Given the description of an element on the screen output the (x, y) to click on. 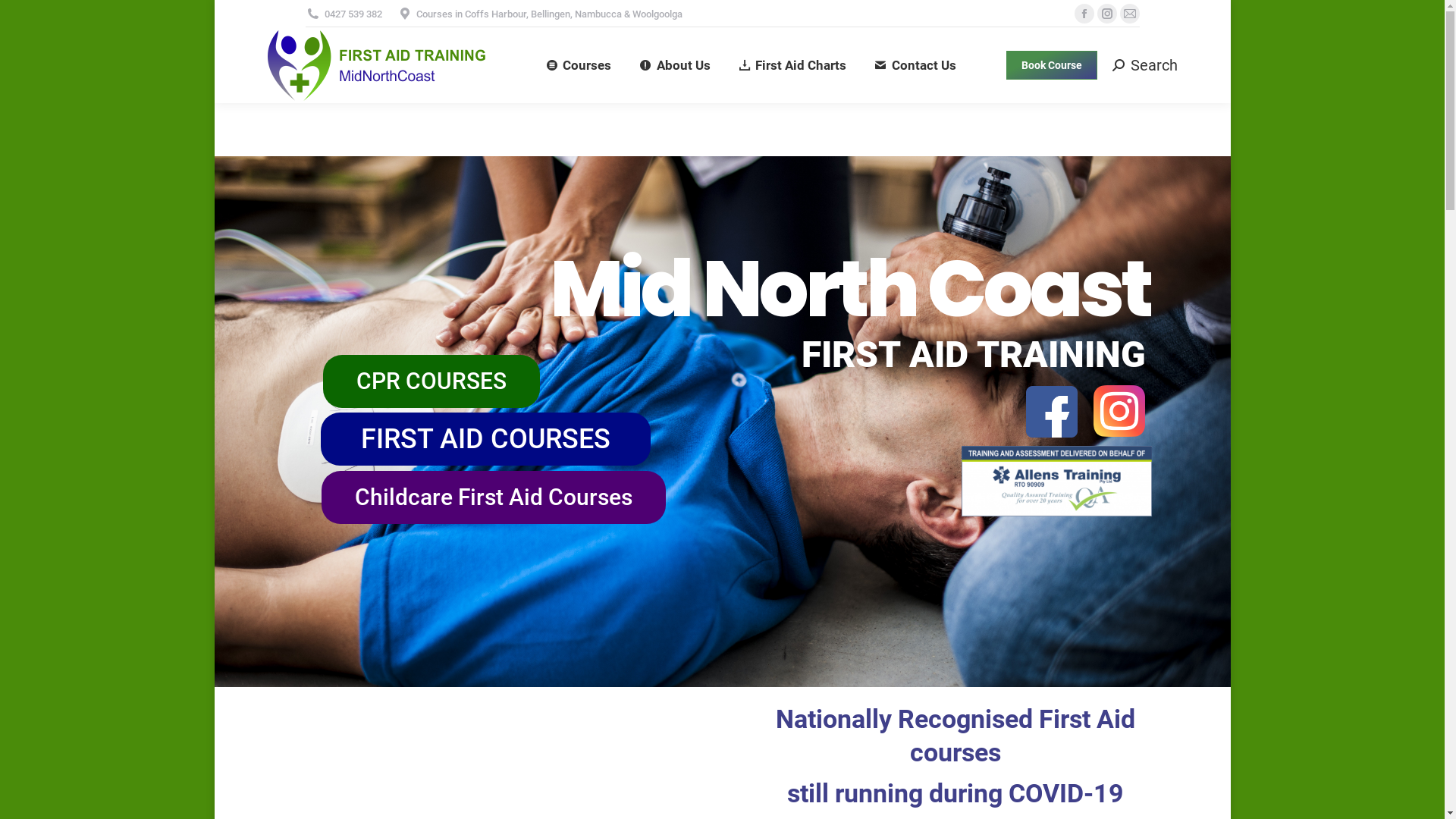
About Us Element type: text (674, 64)
Courses Element type: text (578, 64)
Contact Us Element type: text (914, 64)
Go! Element type: text (23, 15)
Instagram page opens in new window Element type: text (1106, 13)
Facebook page opens in new window Element type: text (1083, 13)
Mail page opens in new window Element type: text (1129, 13)
CPR COURSES Element type: text (431, 380)
Search Element type: text (1144, 65)
First Aid Charts Element type: text (792, 64)
FIRST AID COURSES Element type: text (484, 438)
Childcare First Aid Courses Element type: text (493, 497)
Book Course Element type: text (1051, 64)
